Given the description of an element on the screen output the (x, y) to click on. 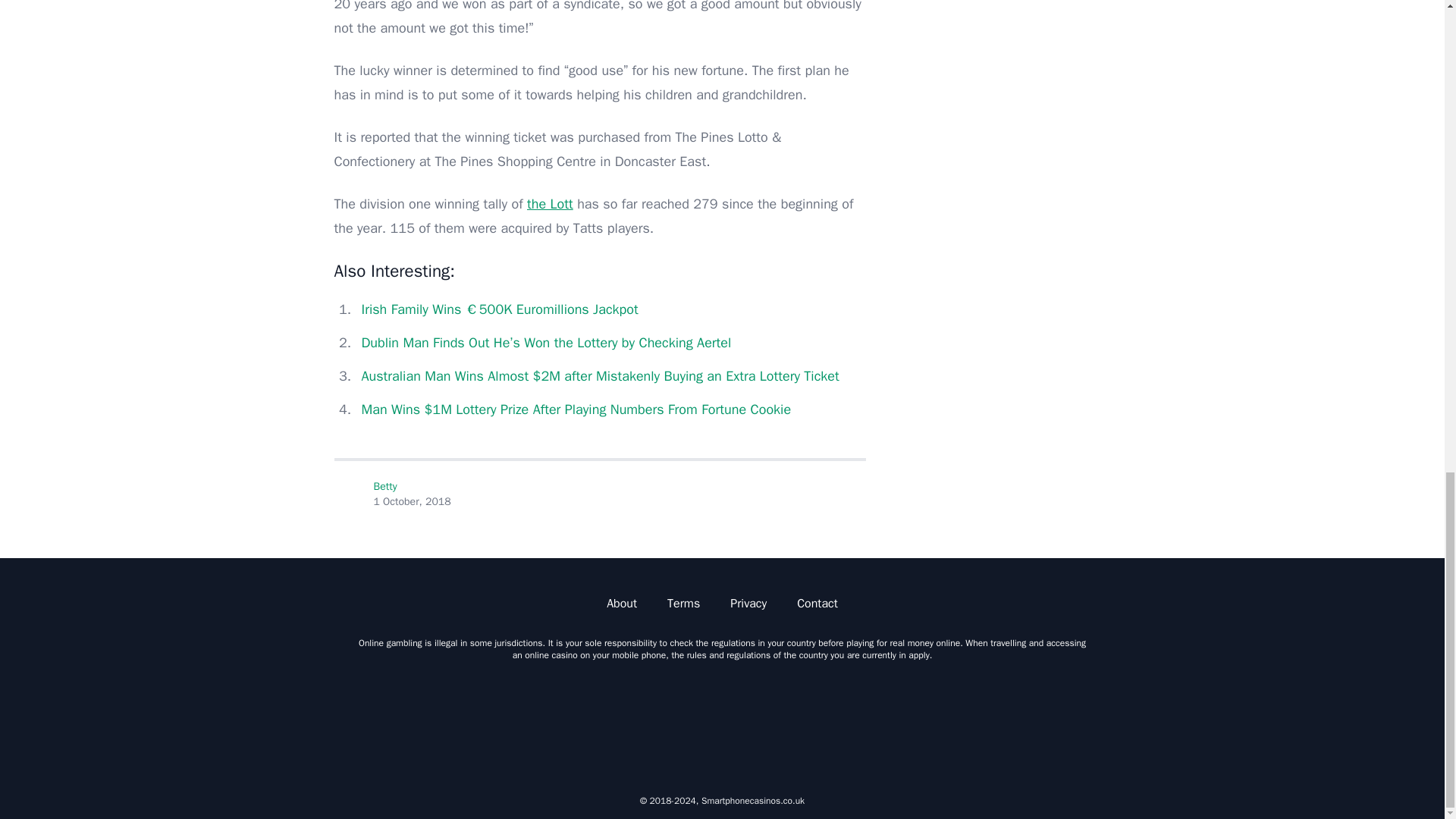
BeGambleAware Logo (721, 721)
the Lott (550, 203)
Gambling Commission Logo (581, 721)
GamCare Logo (863, 721)
eCogra Logo (1003, 721)
Betty (348, 494)
